Given the description of an element on the screen output the (x, y) to click on. 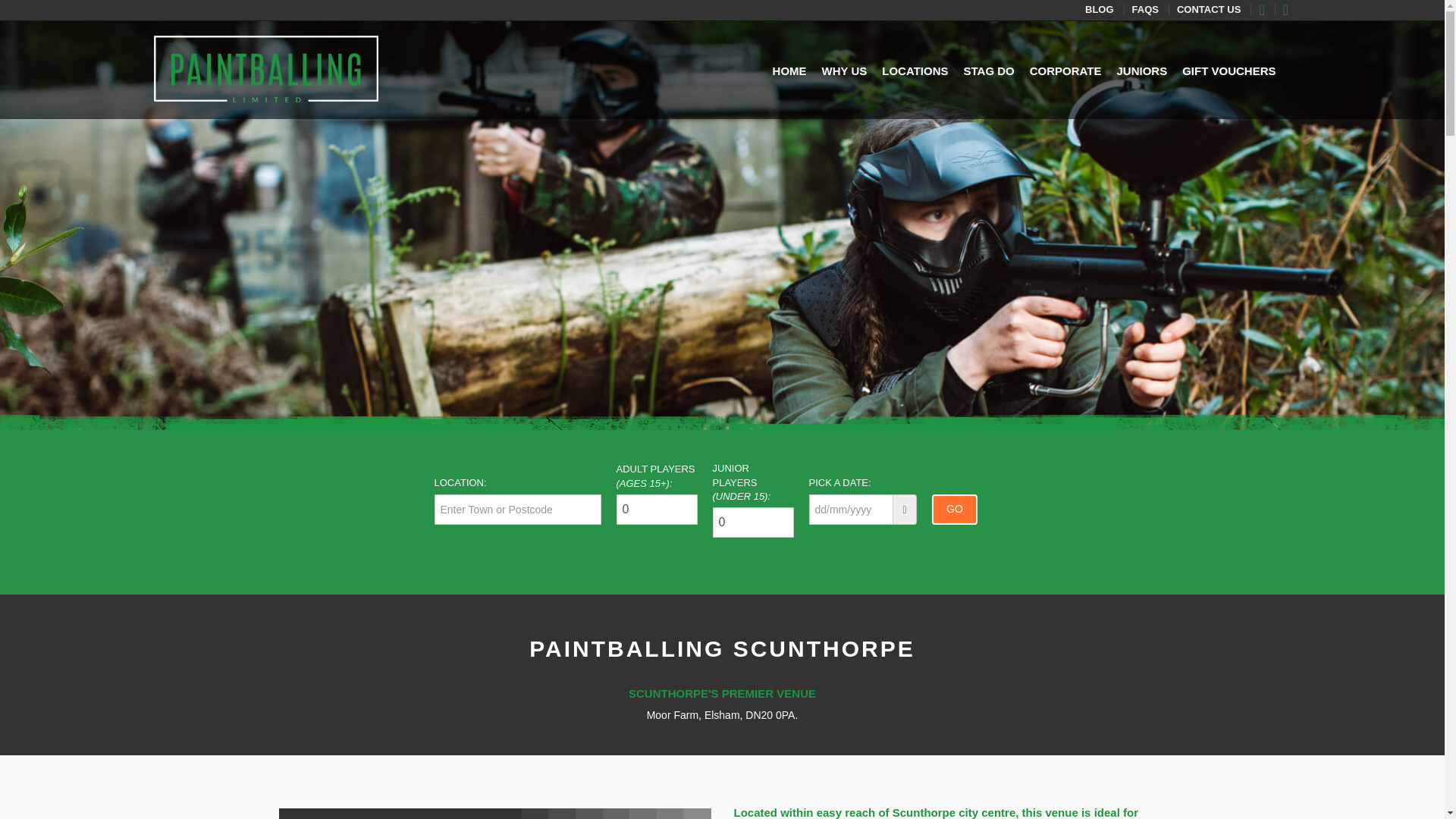
0 (753, 521)
Facebook (1267, 9)
Paintball juniors (1141, 71)
LOCATIONS (914, 71)
Paintball gift vouchers (1228, 71)
CONTACT US (1213, 9)
Paintball Contact Us (1213, 9)
FAQS (1150, 9)
STAG DO (987, 71)
Twitter (1290, 9)
WHY US (844, 71)
GO (953, 509)
Corporate (1065, 71)
BLOG (1104, 9)
